Given the description of an element on the screen output the (x, y) to click on. 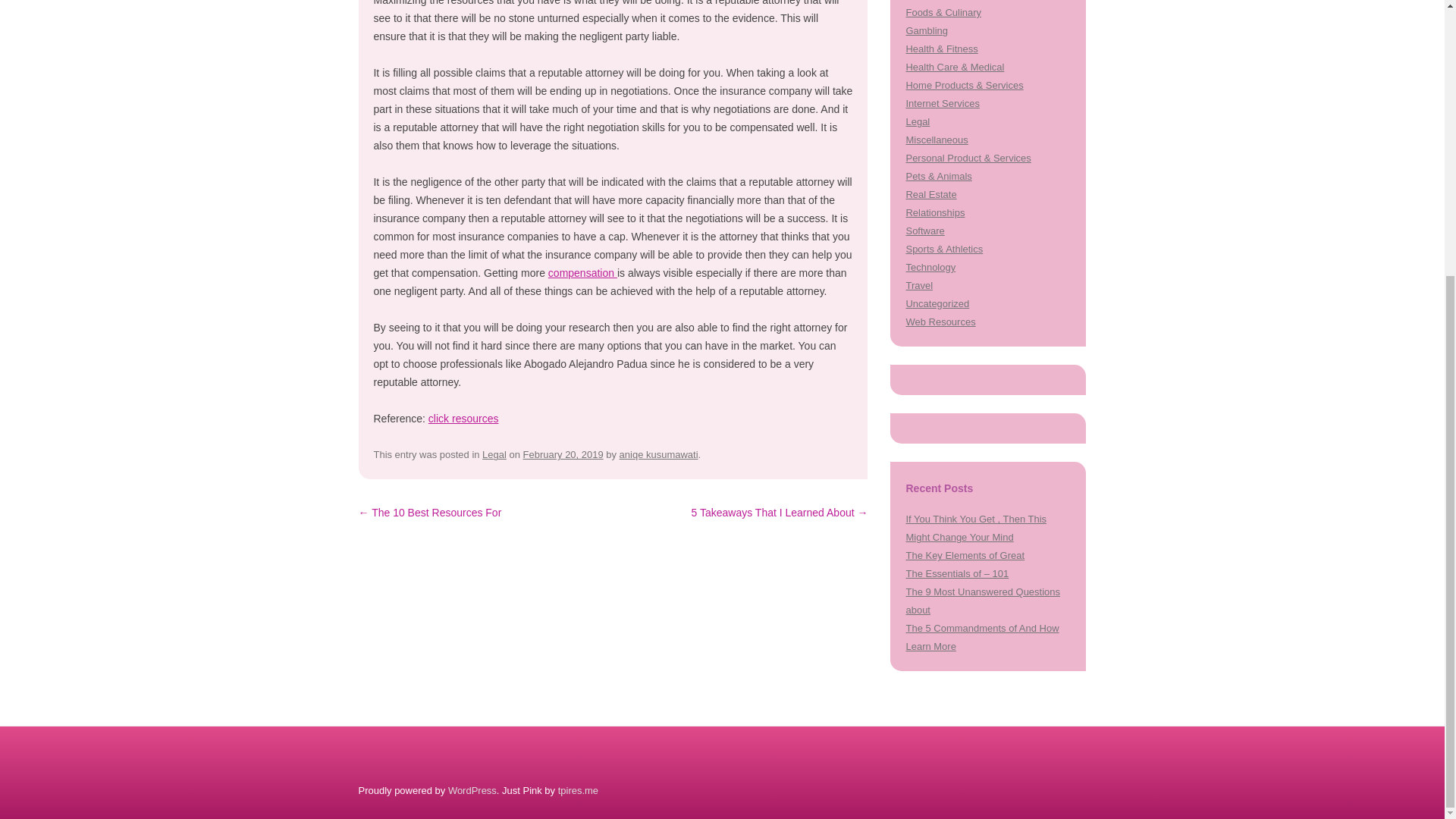
The Key Elements of Great (965, 555)
Technology (930, 266)
Legal (917, 121)
8:33 pm (563, 454)
click resources (463, 418)
Real Estate (930, 194)
Web Resources (940, 321)
Semantic Personal Publishing Platform (472, 790)
aniqe kusumawati (659, 454)
Miscellaneous (936, 139)
